Given the description of an element on the screen output the (x, y) to click on. 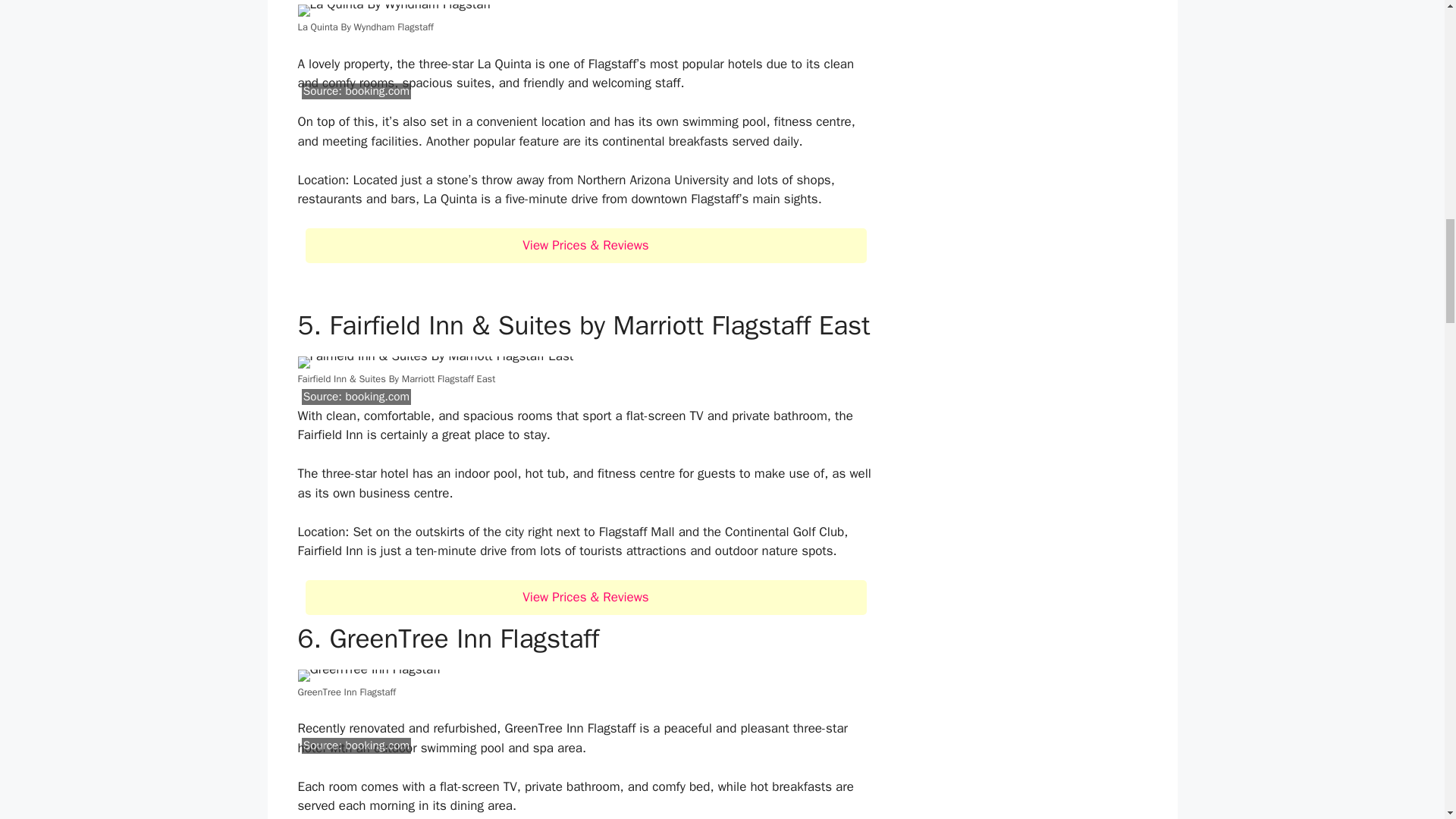
booking.com (377, 90)
booking.com (377, 396)
booking.com (377, 744)
